Given the description of an element on the screen output the (x, y) to click on. 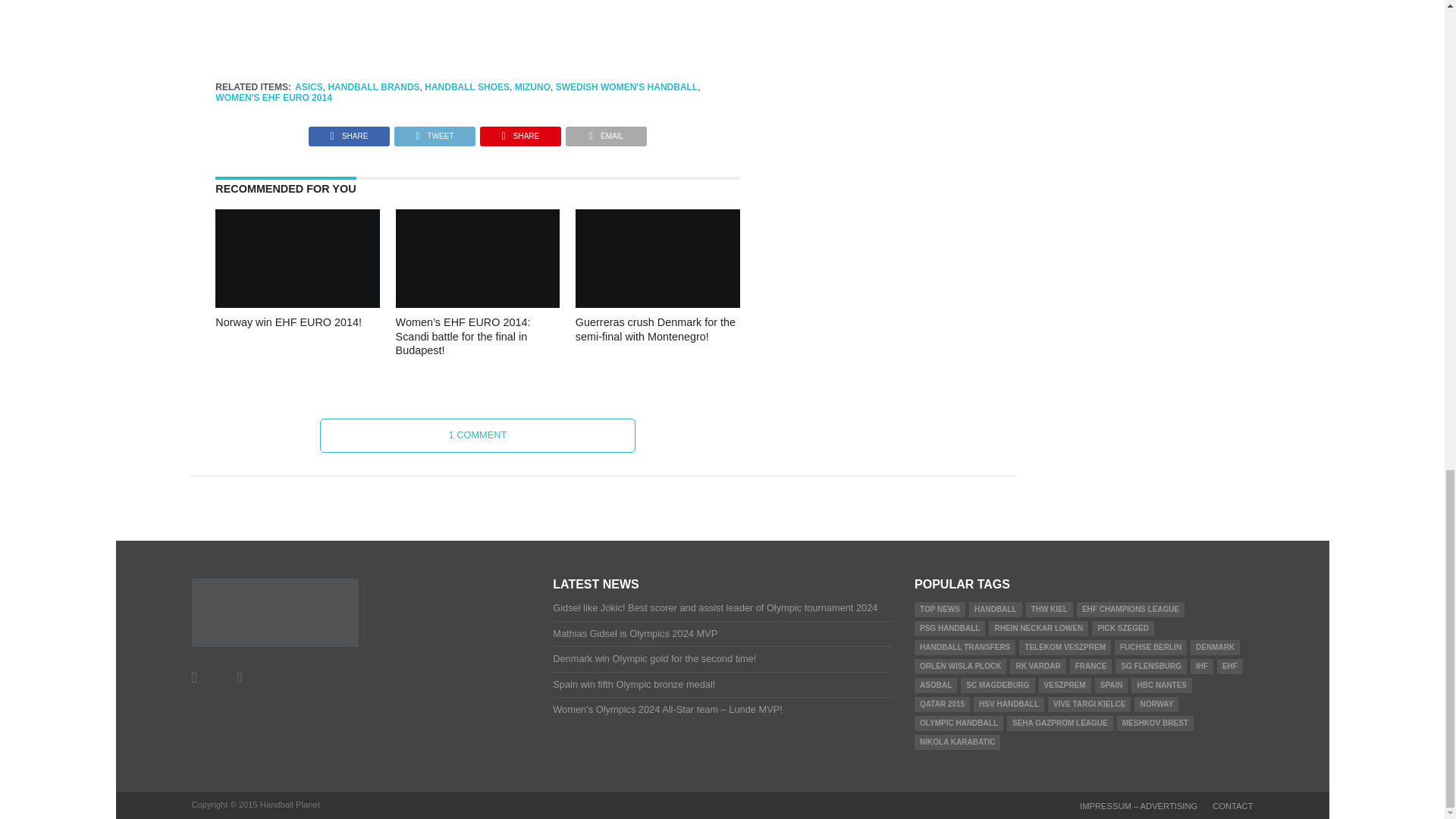
Pin This Post (520, 132)
Norway win EHF EURO 2014! (297, 303)
Guerreras crush Denmark for the semi-final with Montenegro! (657, 303)
Tweet This Post (434, 132)
Share on Facebook (349, 132)
